Given the description of an element on the screen output the (x, y) to click on. 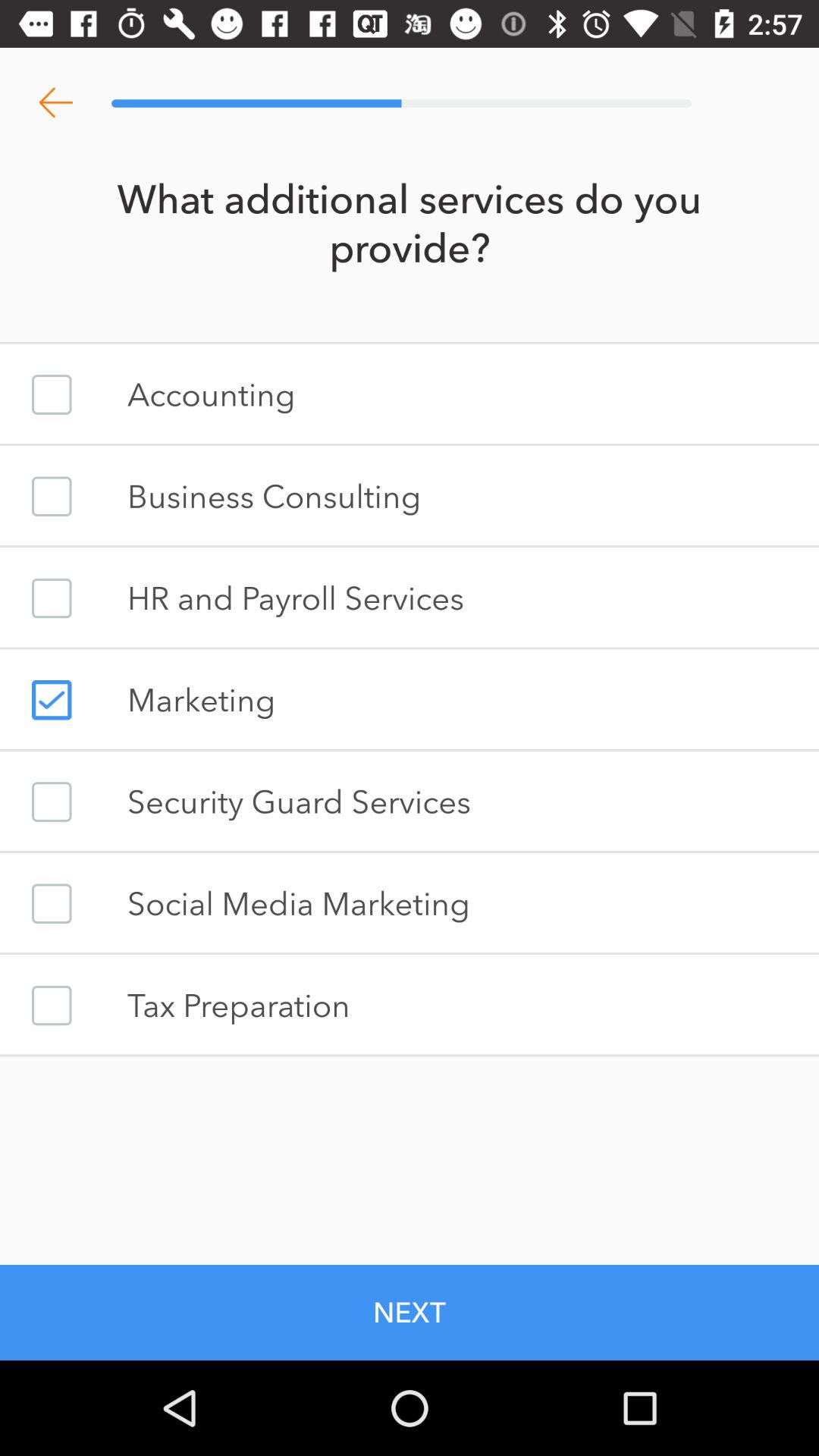
accounting (51, 394)
